Given the description of an element on the screen output the (x, y) to click on. 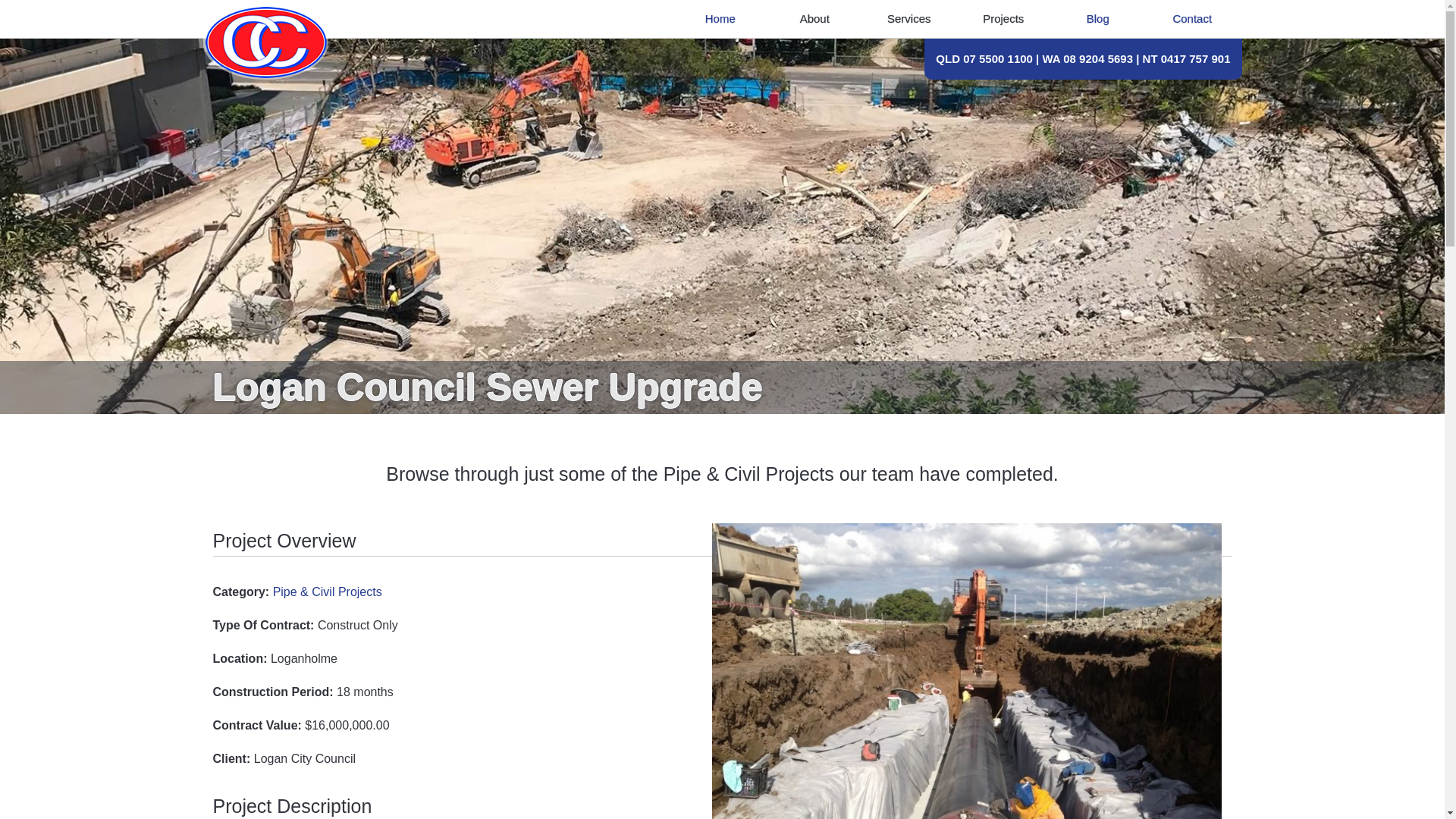
About (814, 18)
Contact (1192, 18)
Blog (1098, 18)
07 5500 1100 (997, 58)
Home (720, 18)
08 9204 5693 (1097, 58)
Projects (1002, 18)
Services (908, 18)
0417 757 901 (1195, 58)
